Given the description of an element on the screen output the (x, y) to click on. 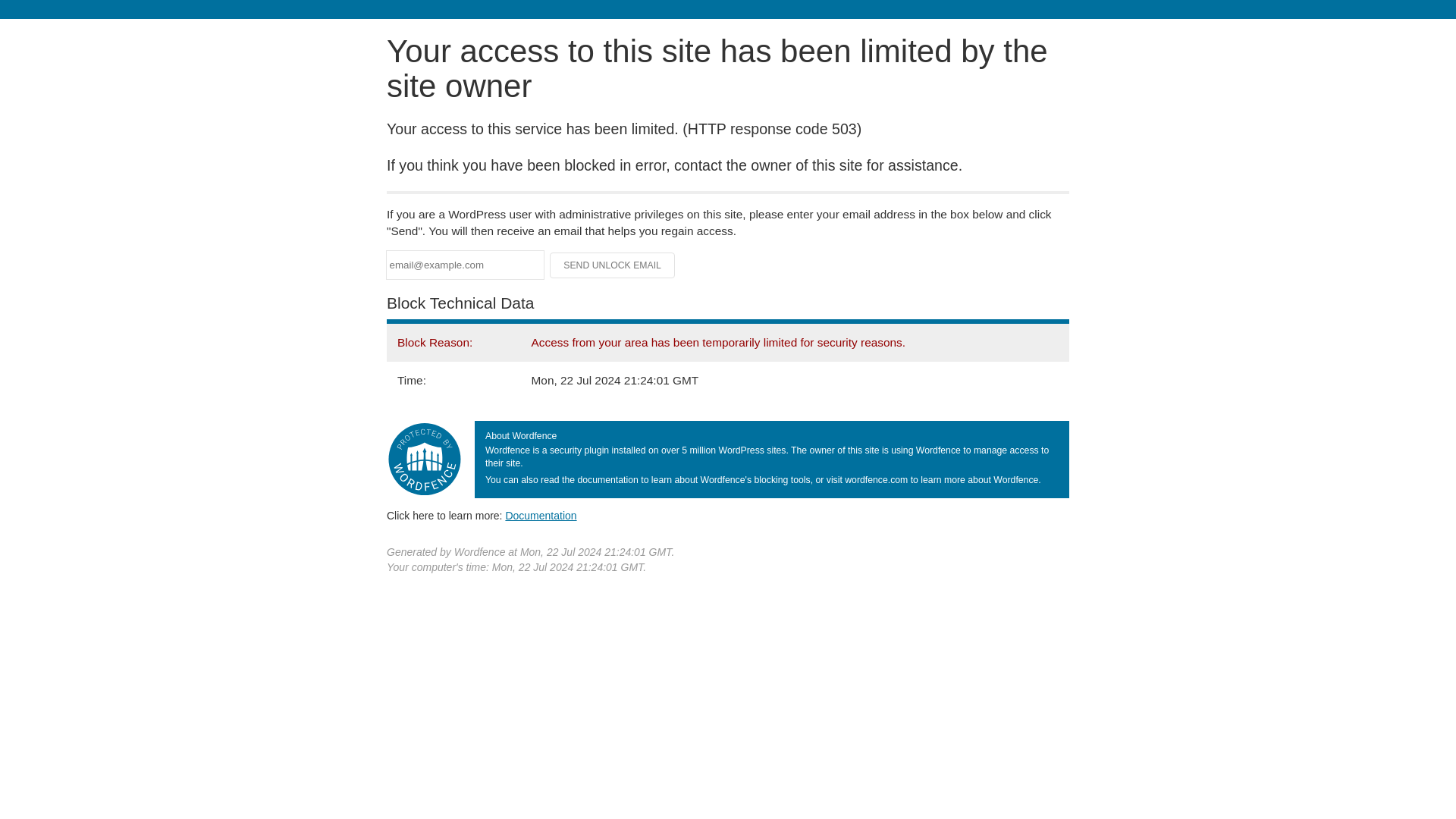
Send Unlock Email (612, 265)
Send Unlock Email (612, 265)
Documentation (540, 515)
